Given the description of an element on the screen output the (x, y) to click on. 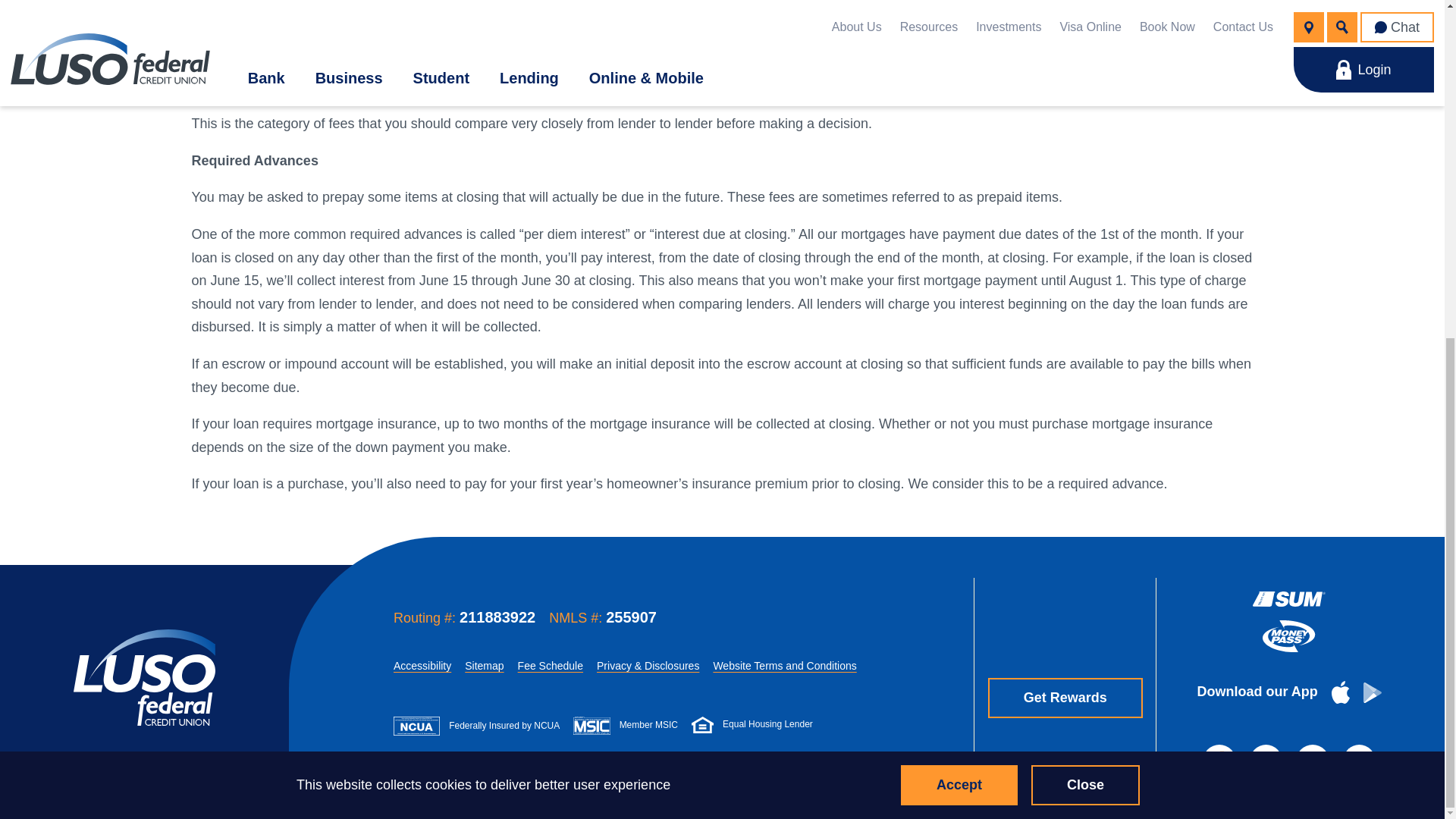
Accept (959, 214)
Close (1085, 214)
